Given the description of an element on the screen output the (x, y) to click on. 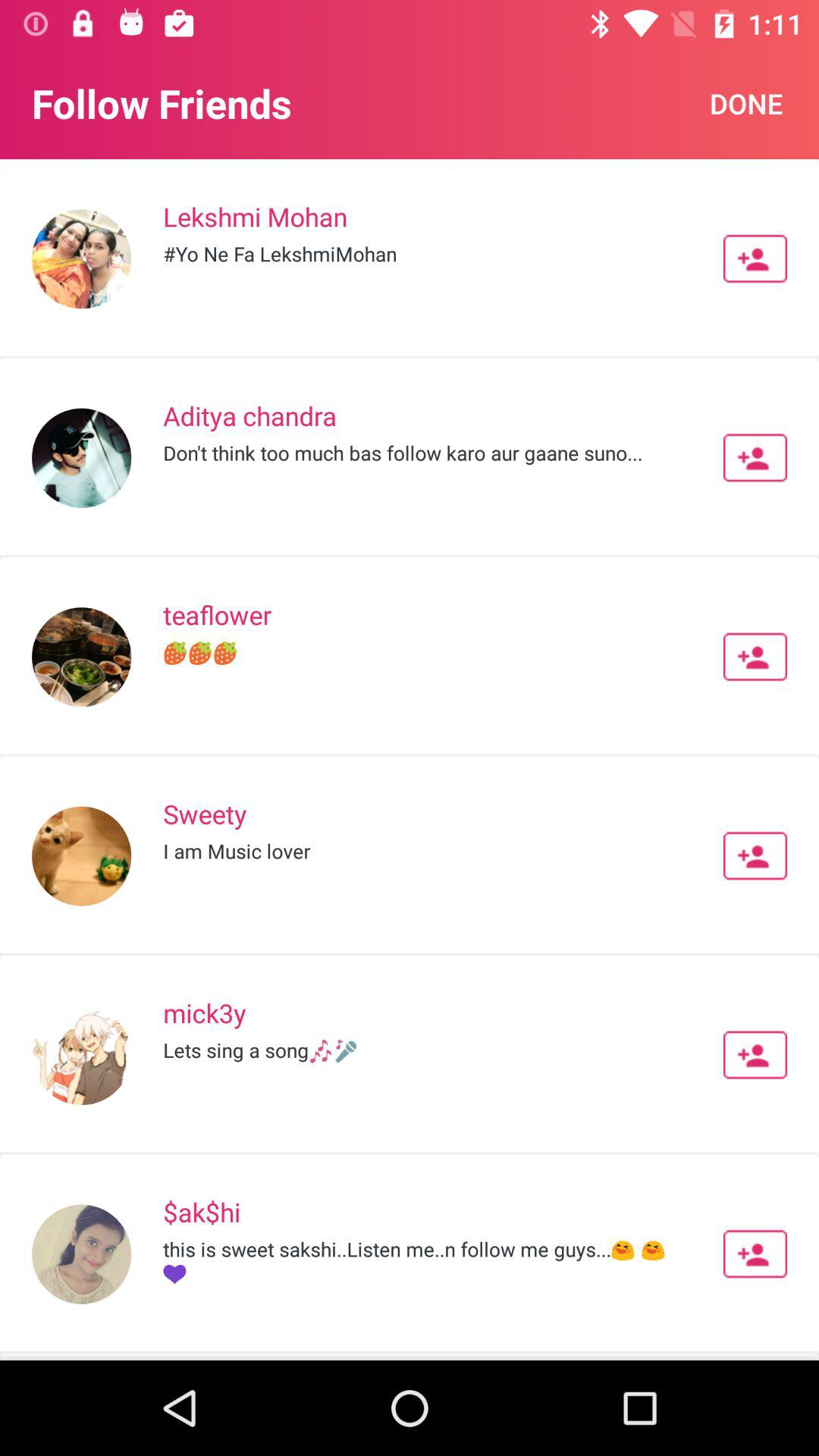
go do context (755, 1054)
